Given the description of an element on the screen output the (x, y) to click on. 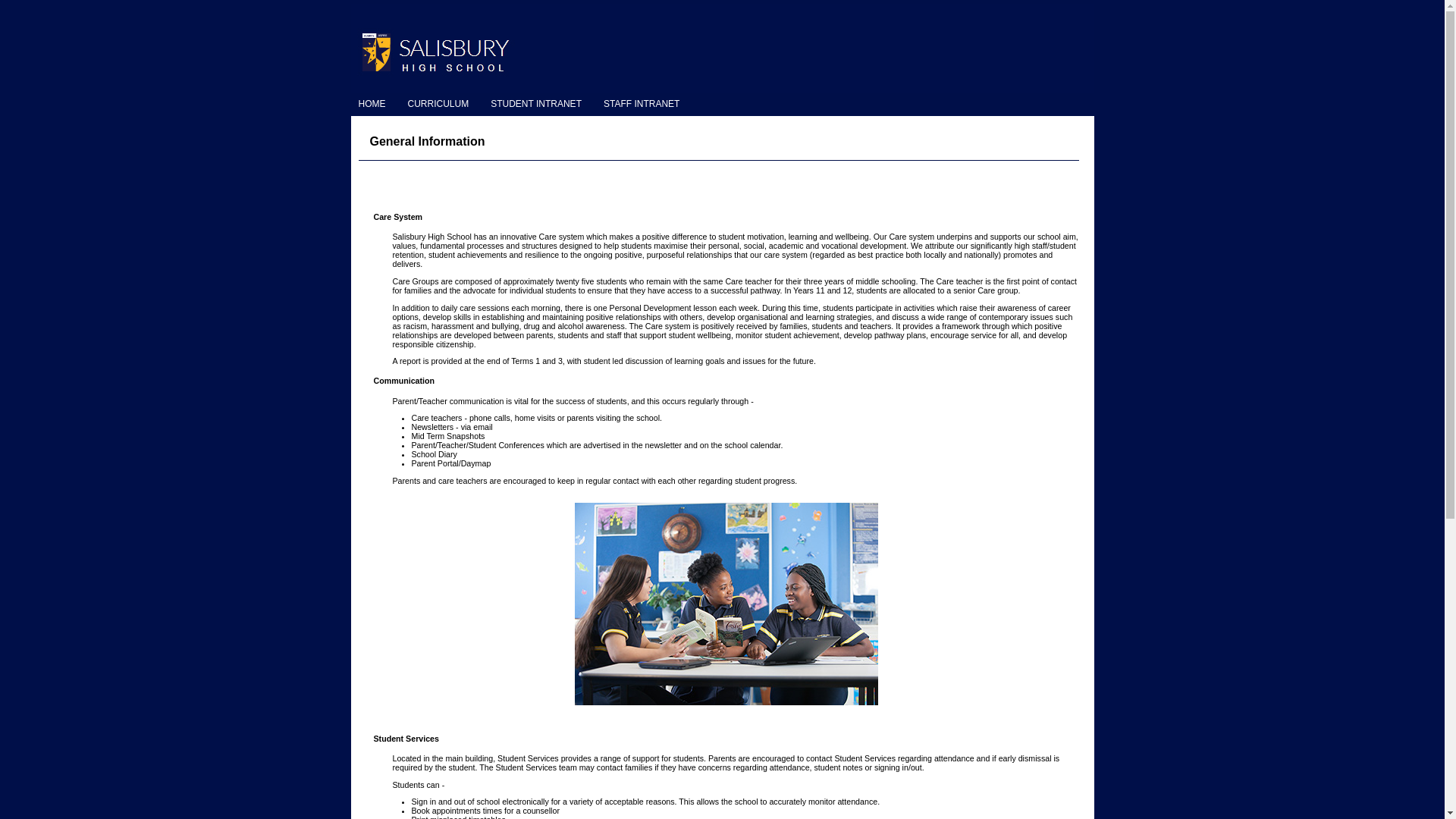
HOME Element type: text (374, 103)
CURRICULUM Element type: text (440, 103)
STAFF INTRANET Element type: text (644, 103)
STUDENT INTRANET Element type: text (538, 103)
